Given the description of an element on the screen output the (x, y) to click on. 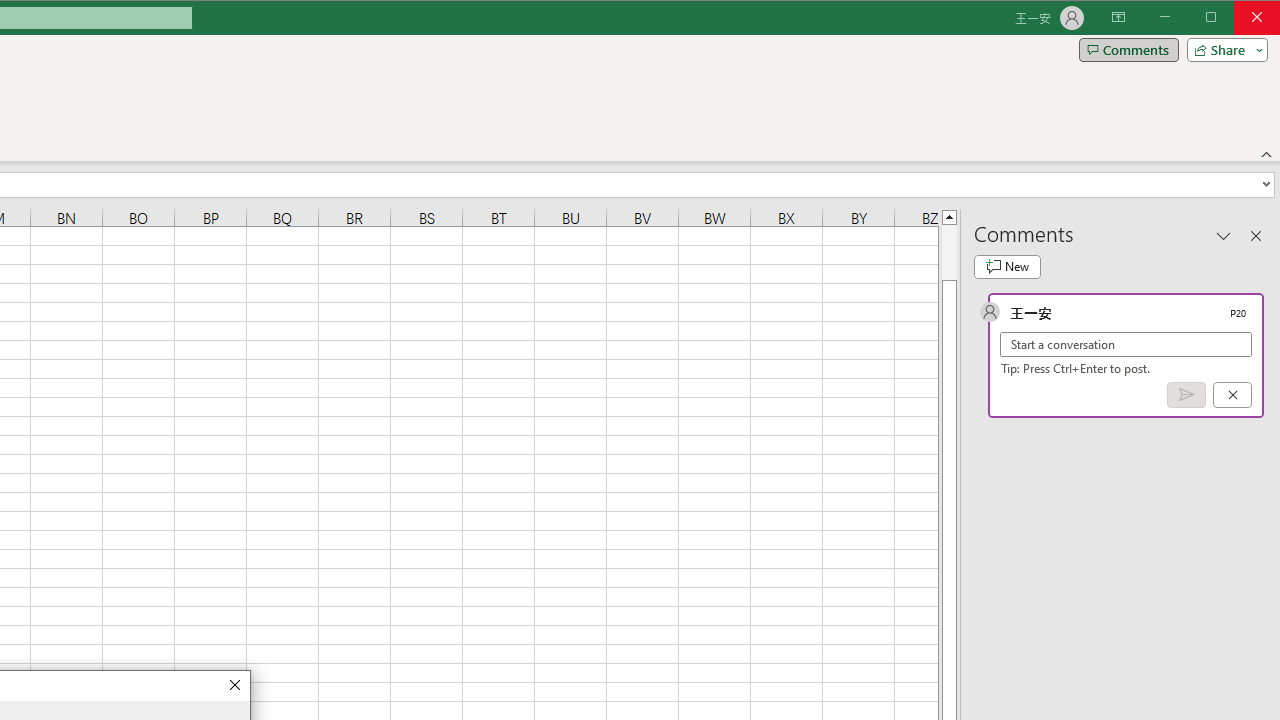
Comments (1128, 49)
New comment (1007, 266)
Close pane (1256, 235)
Start a conversation (1126, 344)
Page up (948, 252)
Share (1223, 49)
Cancel (1232, 395)
Post comment (Ctrl + Enter) (1186, 395)
Task Pane Options (1224, 235)
Collapse the Ribbon (1267, 154)
Ribbon Display Options (1118, 17)
Maximize (1239, 18)
Close (233, 686)
